Given the description of an element on the screen output the (x, y) to click on. 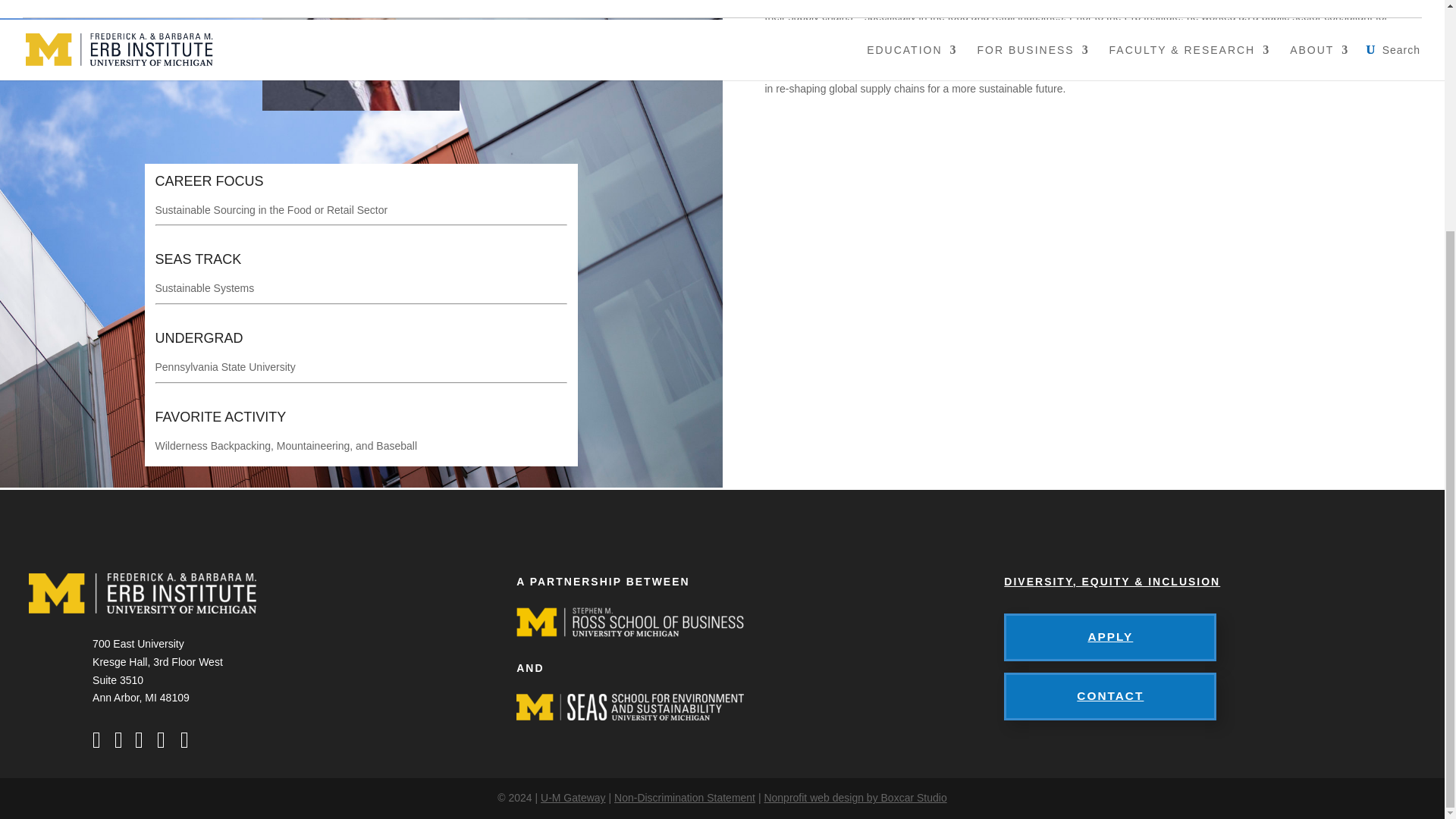
Harrison (361, 55)
